Given the description of an element on the screen output the (x, y) to click on. 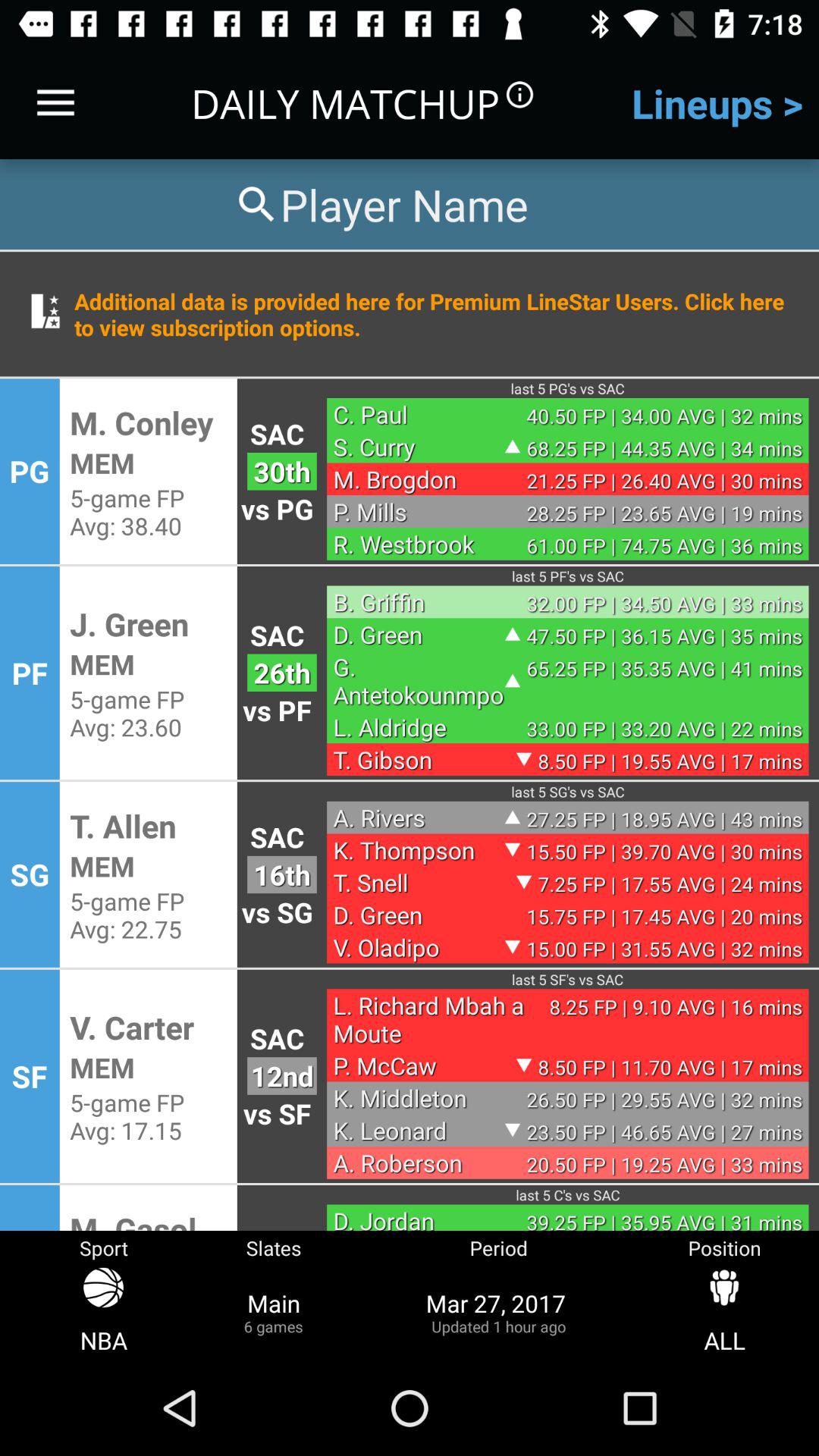
go to search (380, 204)
